Given the description of an element on the screen output the (x, y) to click on. 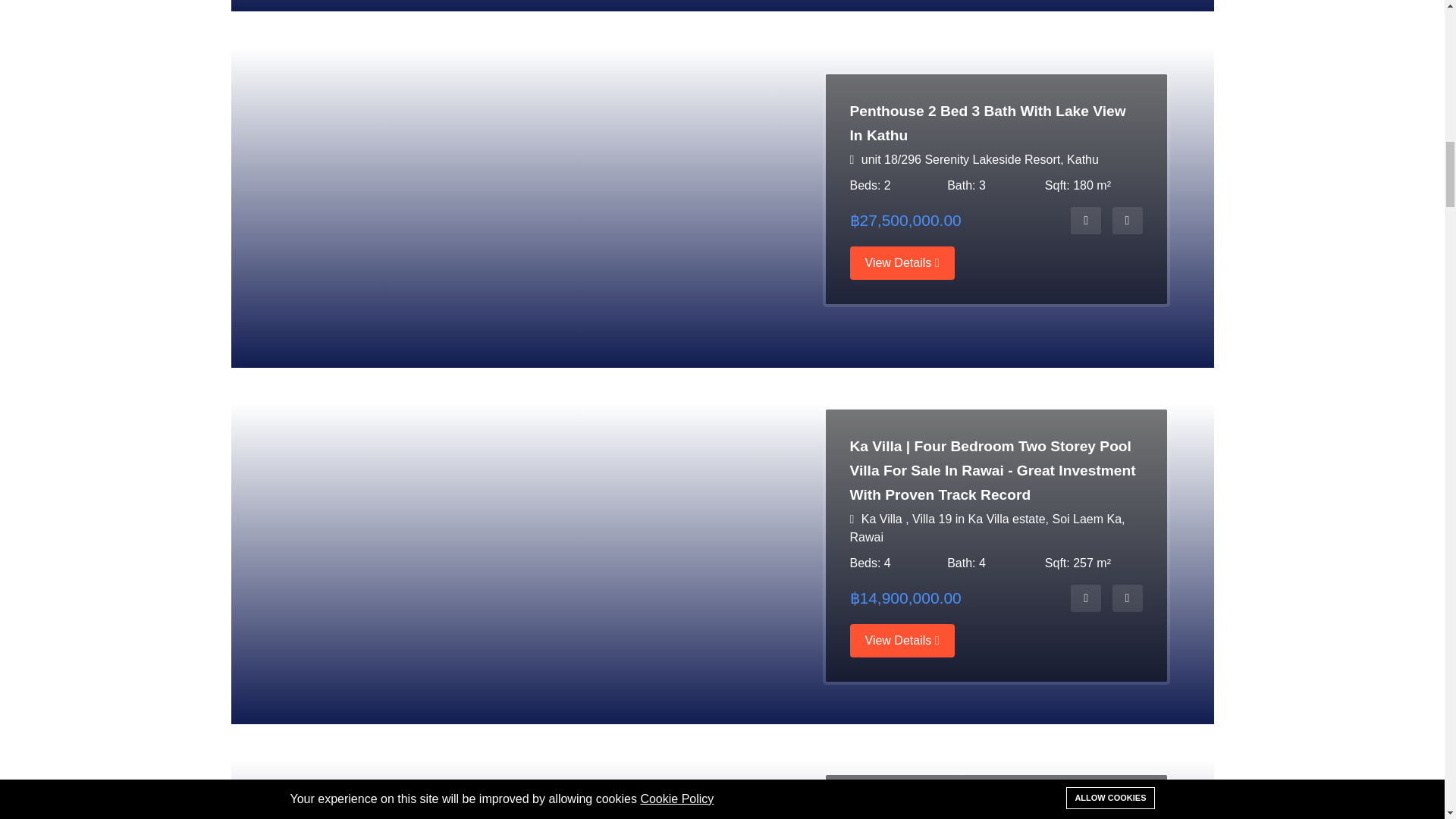
Penthouse 2 Bed 3 Bath with Lake view in Kathu (1085, 220)
